Given the description of an element on the screen output the (x, y) to click on. 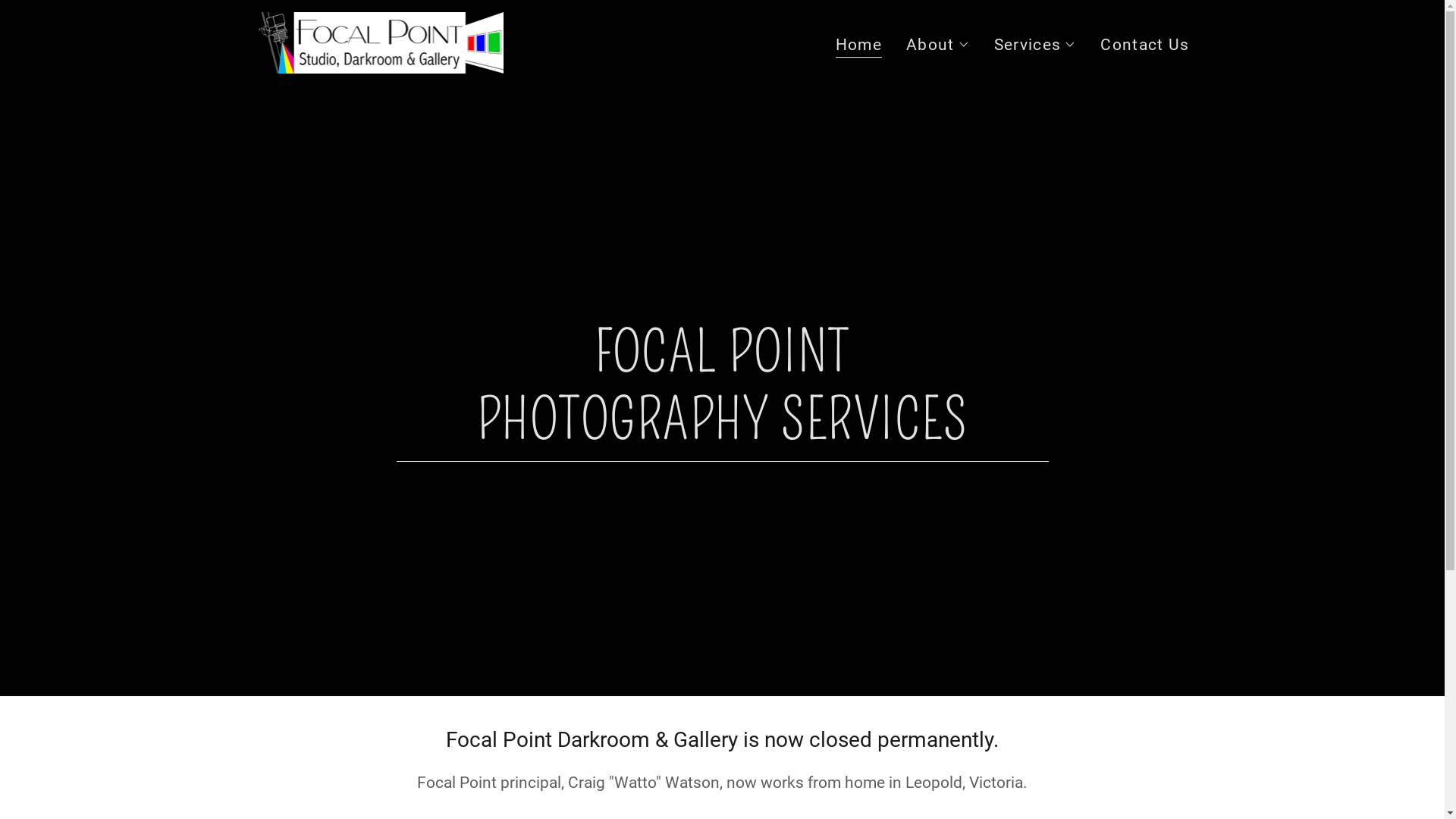
Contact Us Element type: text (1144, 44)
Home Element type: text (858, 46)
About Element type: text (937, 44)
Focal Point Darkroom & Gallery Element type: hover (378, 41)
Services Element type: text (1035, 44)
